Given the description of an element on the screen output the (x, y) to click on. 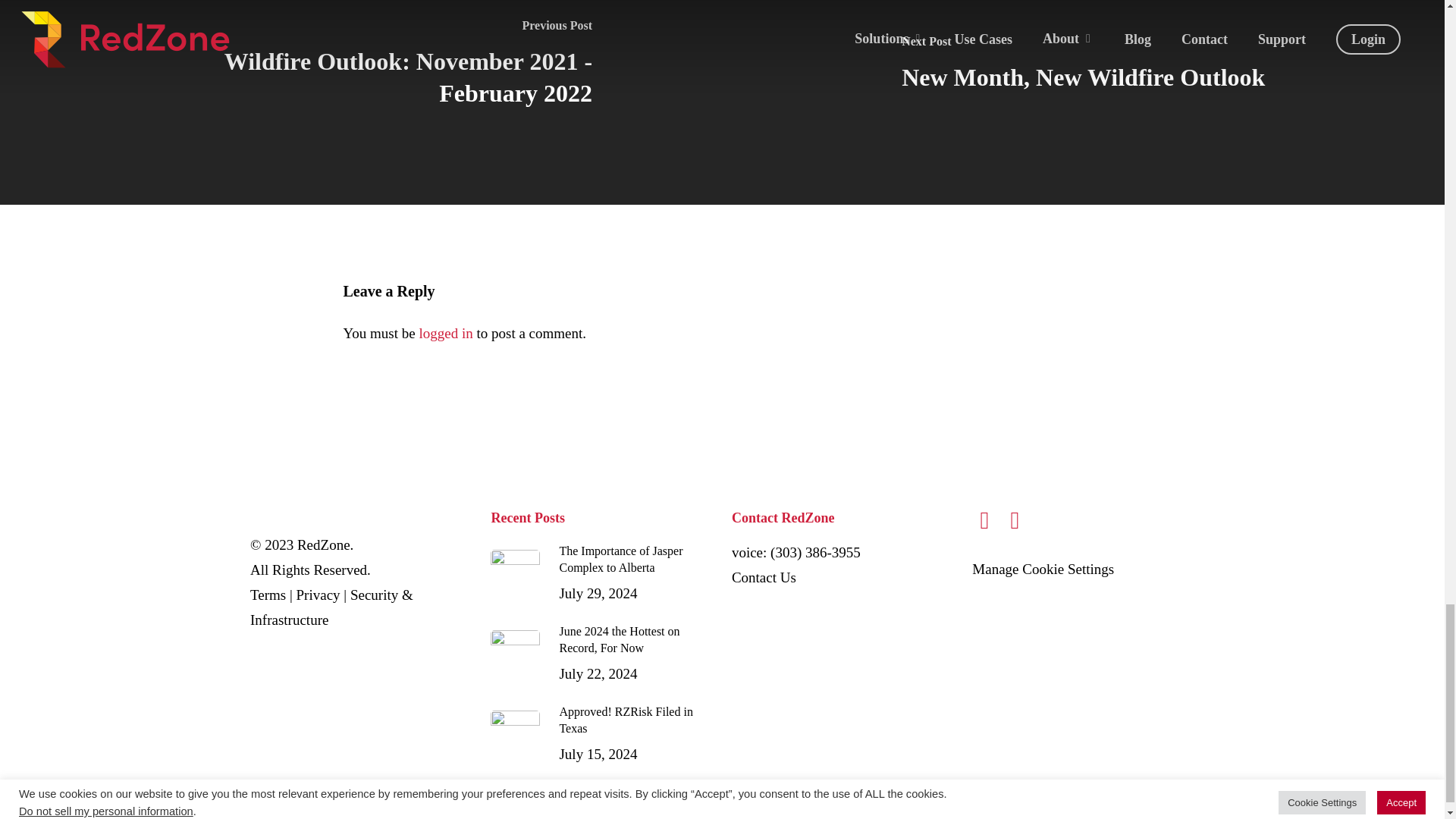
Contact Us (764, 577)
Terms (601, 734)
Contact Form (267, 594)
Privacy (764, 577)
logged in (318, 594)
Manage Cookie Settings (445, 333)
